Given the description of an element on the screen output the (x, y) to click on. 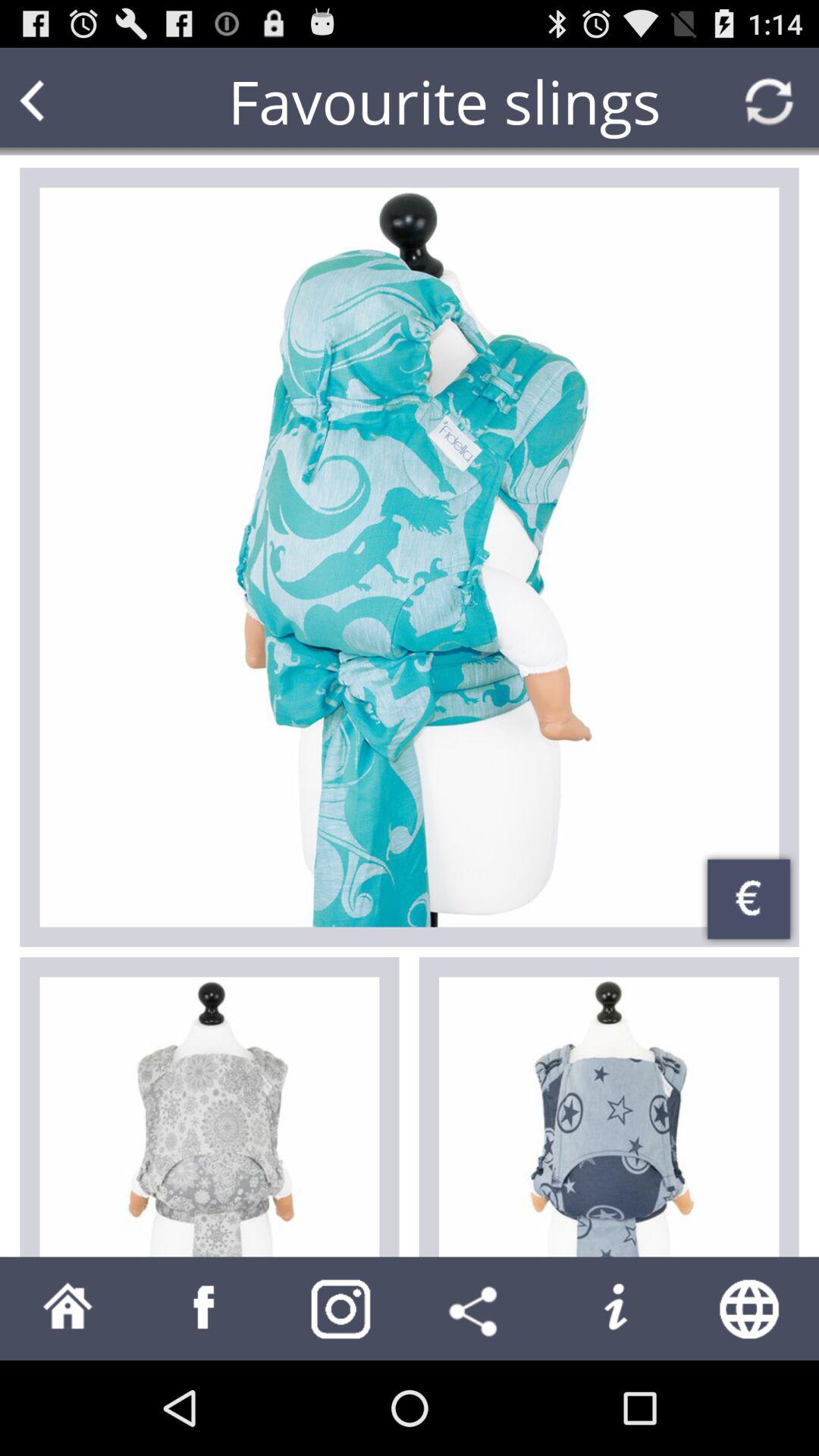
choose article (609, 1116)
